Given the description of an element on the screen output the (x, y) to click on. 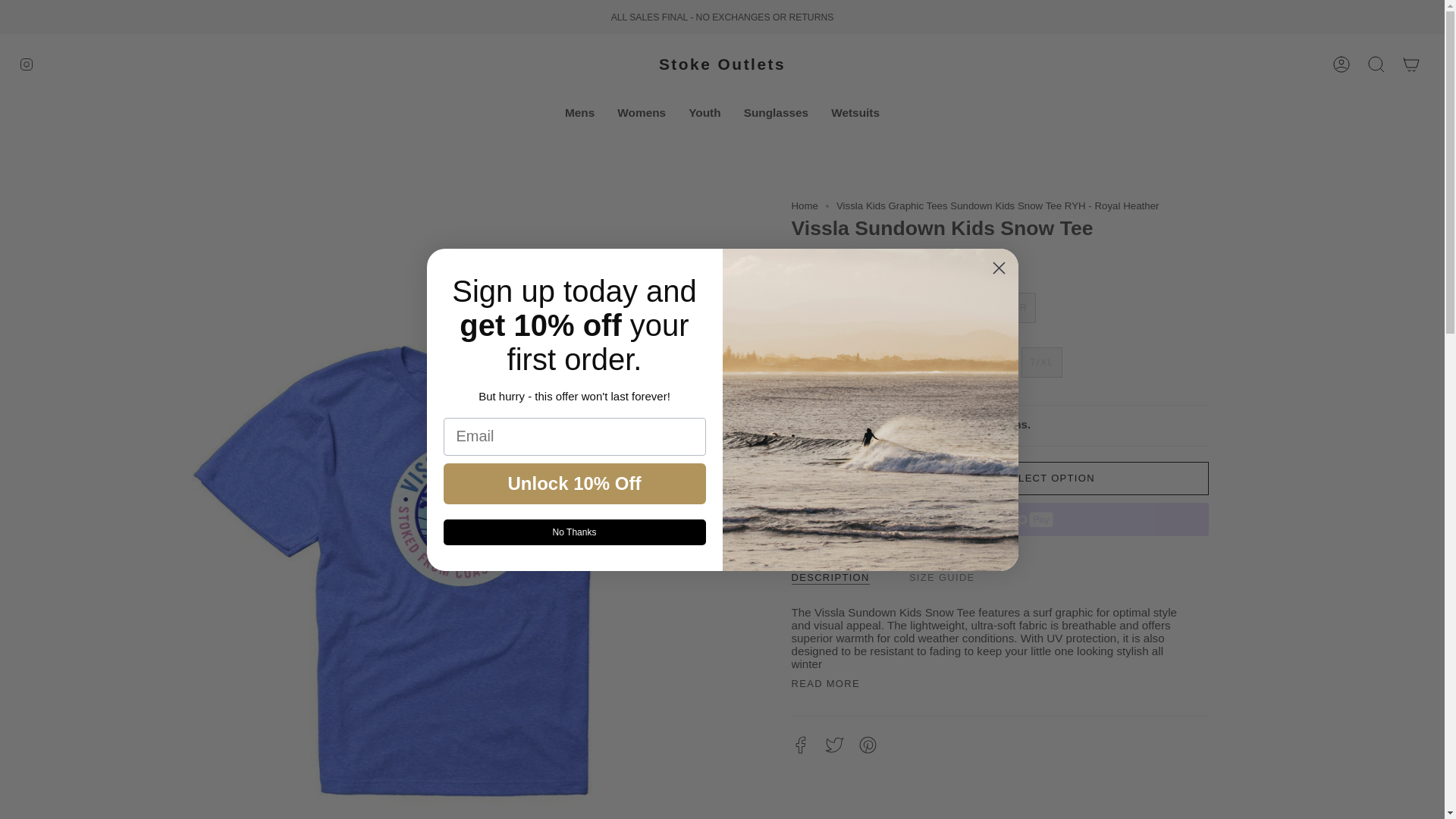
Close dialog 2 (998, 267)
Womens (641, 113)
Stoke Outlets (722, 64)
Mens (579, 113)
